Given the description of an element on the screen output the (x, y) to click on. 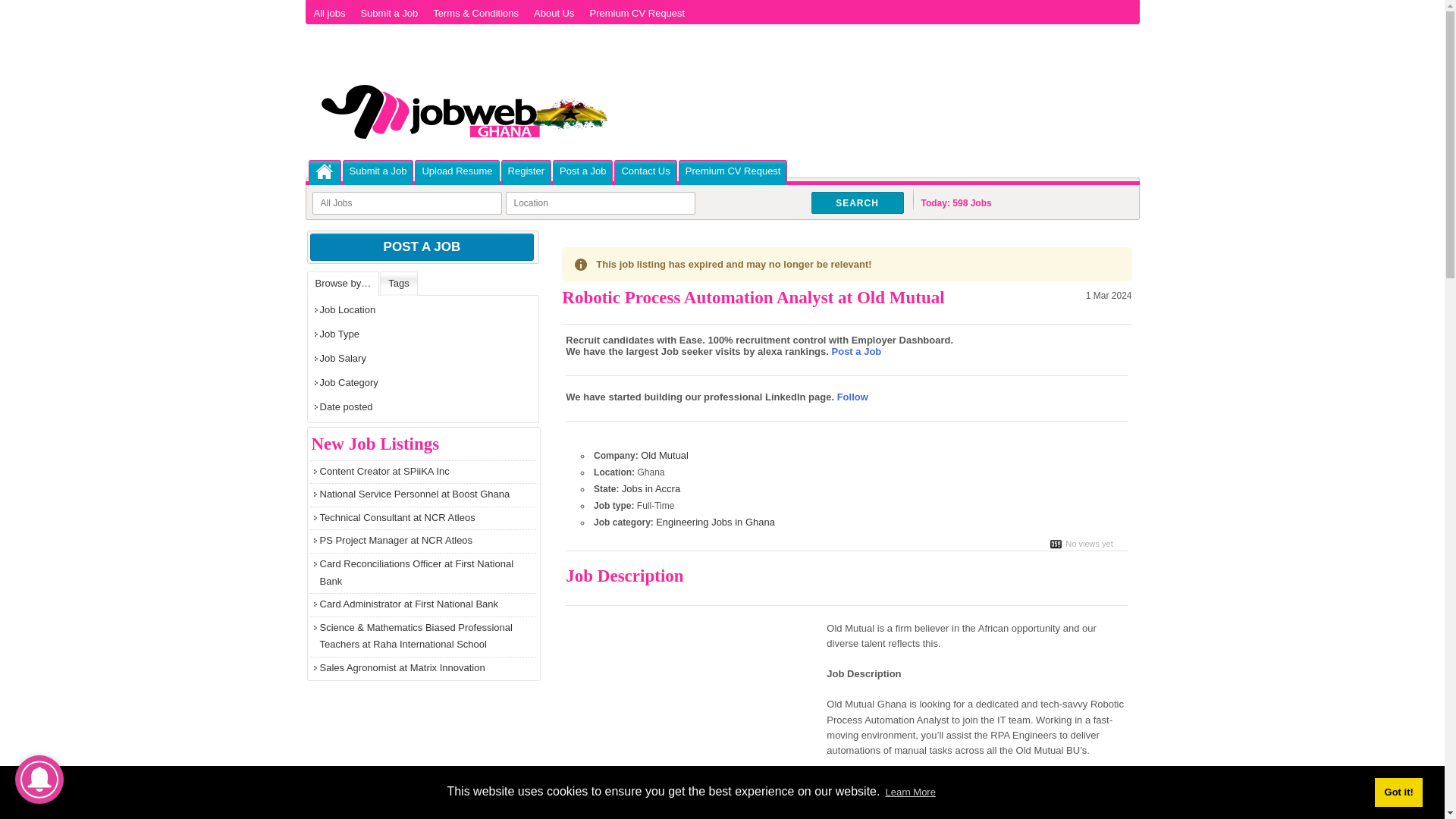
Tags (398, 283)
Engineering Jobs in Ghana (715, 521)
Submit a Job (377, 170)
About Us (552, 12)
Contact Us (645, 170)
All jobs (329, 12)
Submit a Job (388, 12)
Post a Job (582, 170)
Premium CV Request (637, 12)
POST A JOB (421, 247)
Premium CV Request (732, 170)
Register (526, 170)
Old Mutual (664, 455)
Advertisement (693, 723)
Post a Job (856, 351)
